Given the description of an element on the screen output the (x, y) to click on. 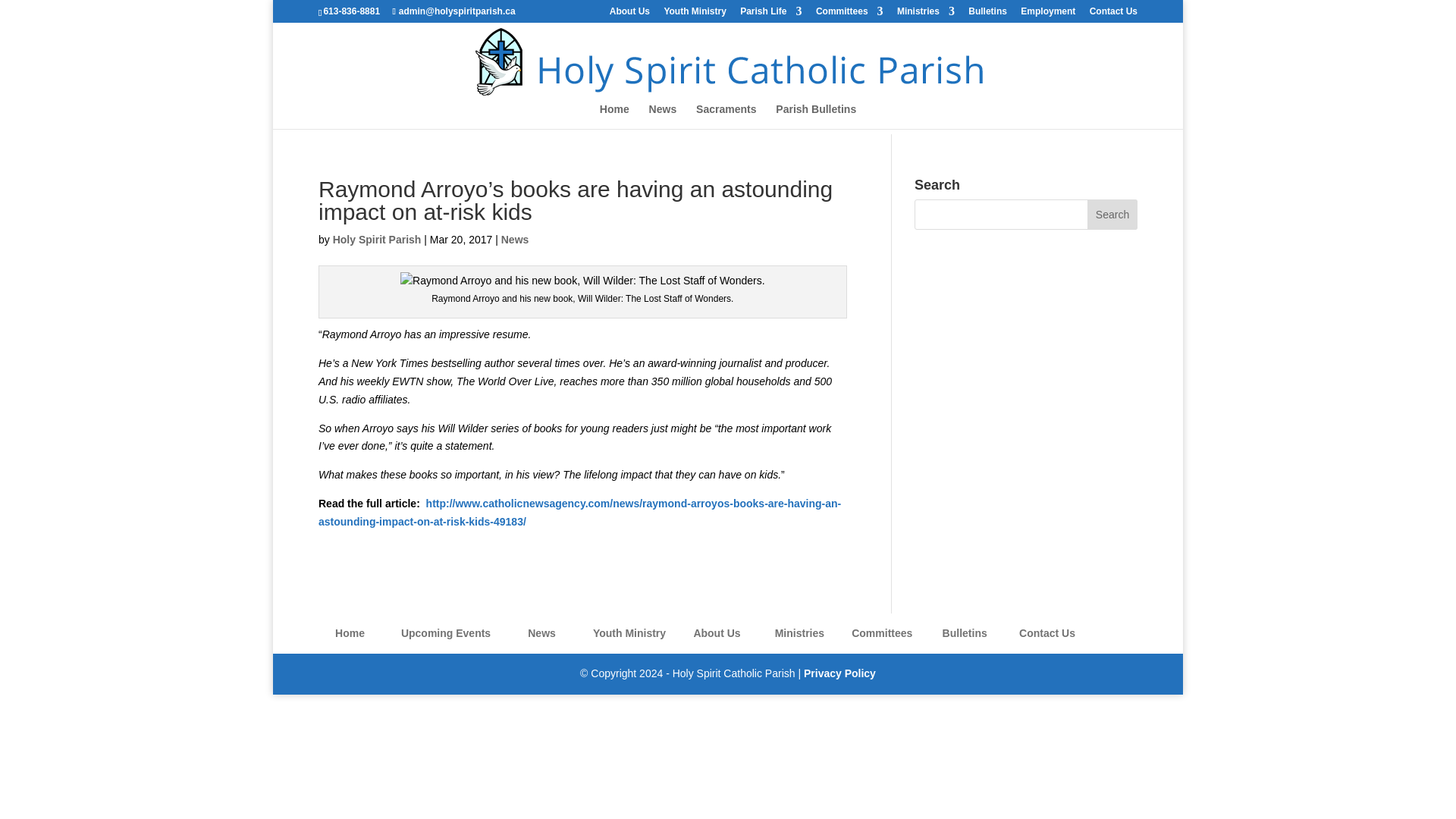
Committees (849, 14)
Search (1112, 214)
Employment (1047, 14)
Posts by Holy Spirit Parish (377, 239)
About Us (629, 14)
Youth Ministry (694, 14)
Contact Us (1113, 14)
Privacy Policy (839, 673)
Bulletins (987, 14)
Ministries (925, 14)
